Given the description of an element on the screen output the (x, y) to click on. 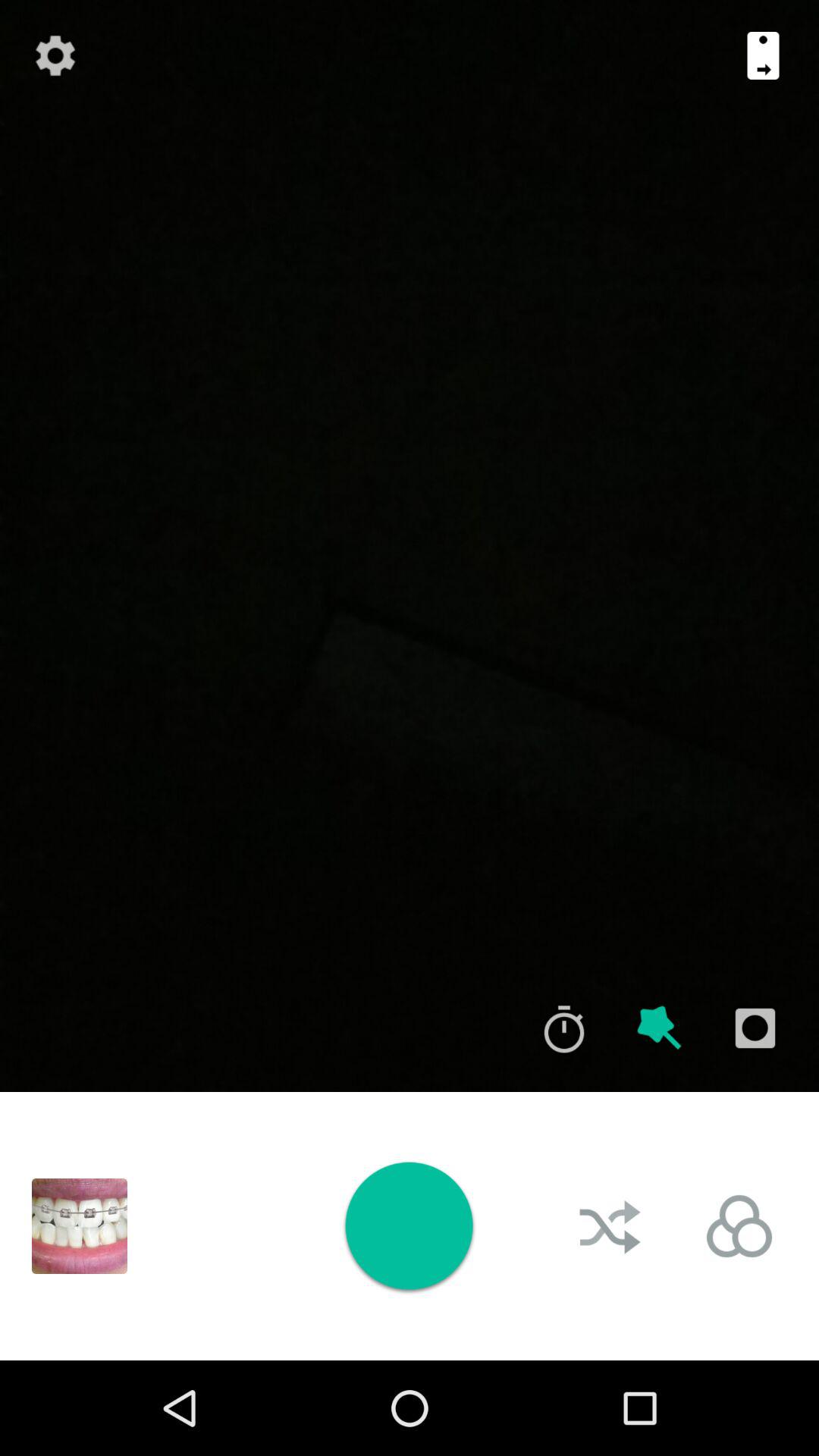
press icon at the bottom (408, 1225)
